Given the description of an element on the screen output the (x, y) to click on. 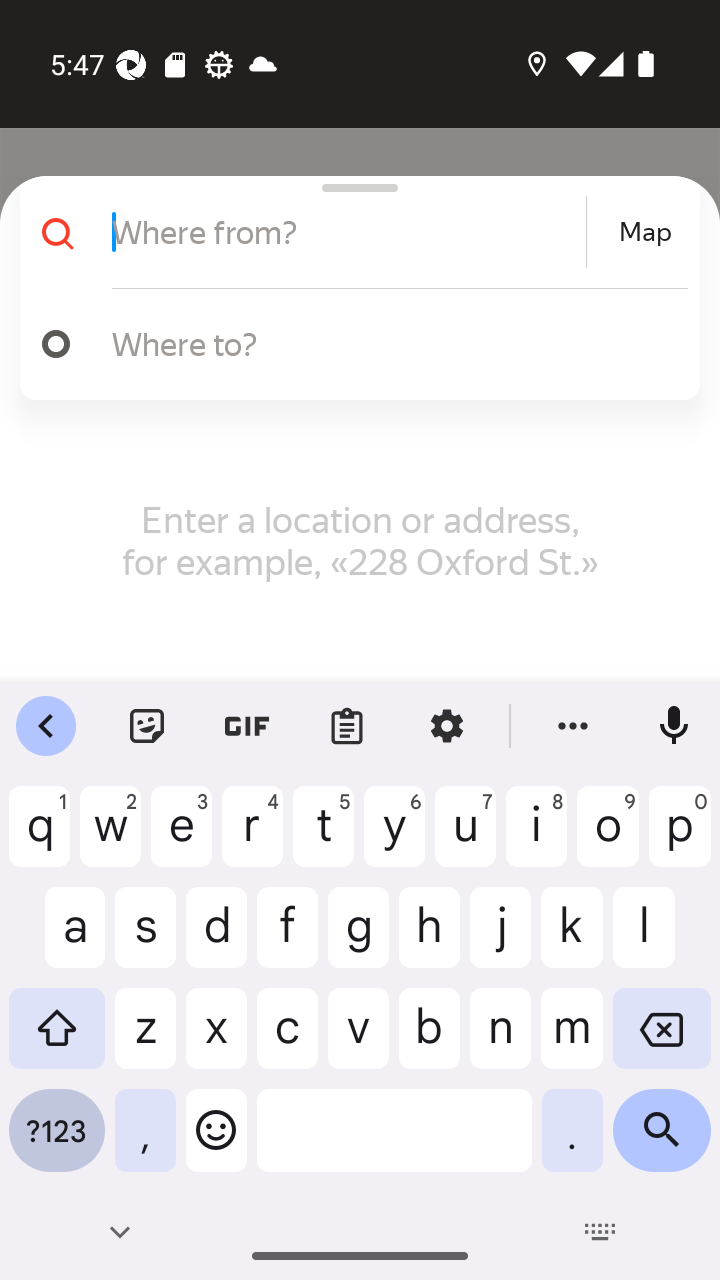
Where from? Map Map (352, 232)
Map (645, 232)
Where from? (346, 232)
Where to? (352, 343)
Where to? (390, 343)
